Given the description of an element on the screen output the (x, y) to click on. 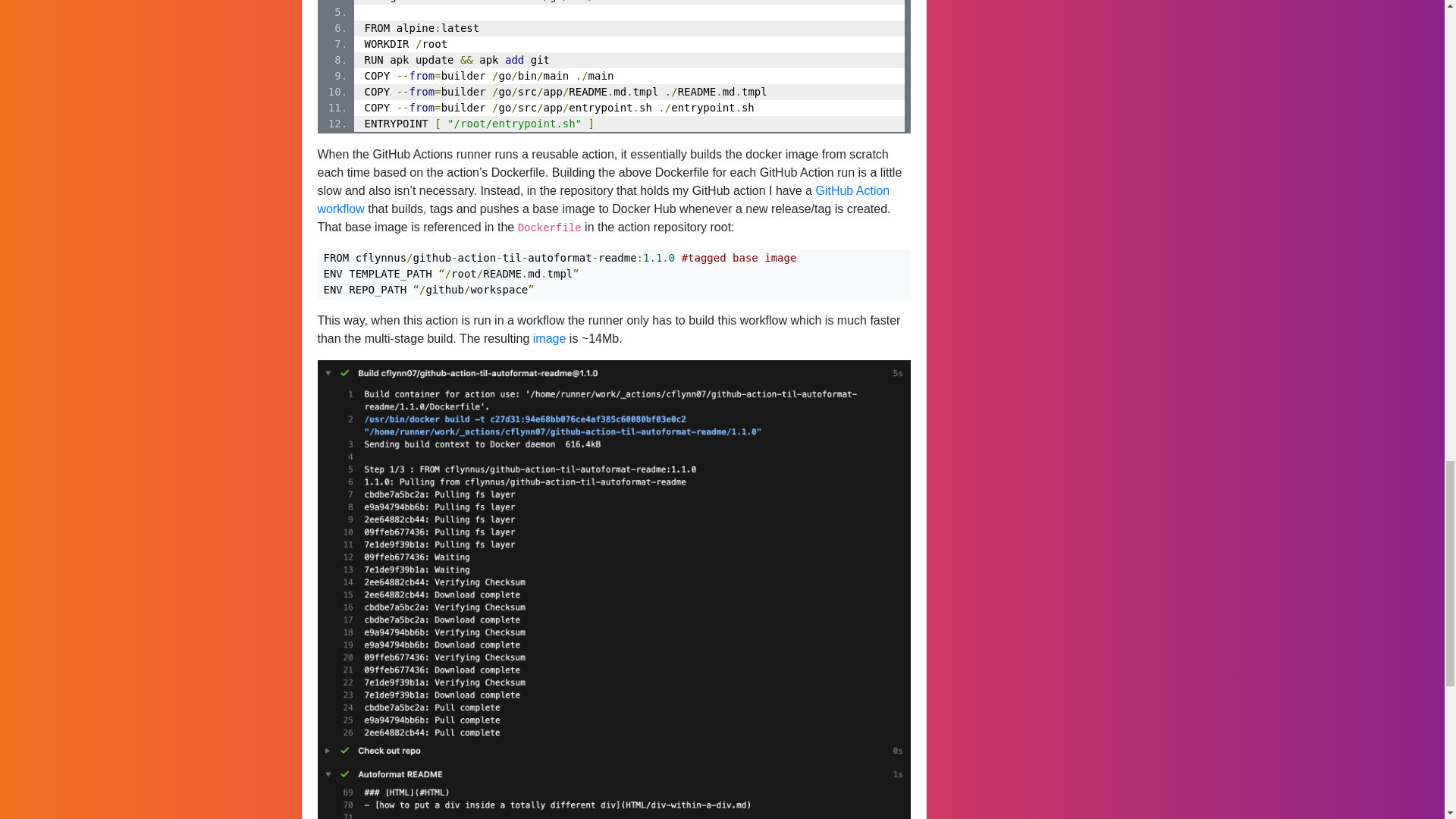
GitHub Action workflow (603, 199)
image (549, 338)
